Given the description of an element on the screen output the (x, y) to click on. 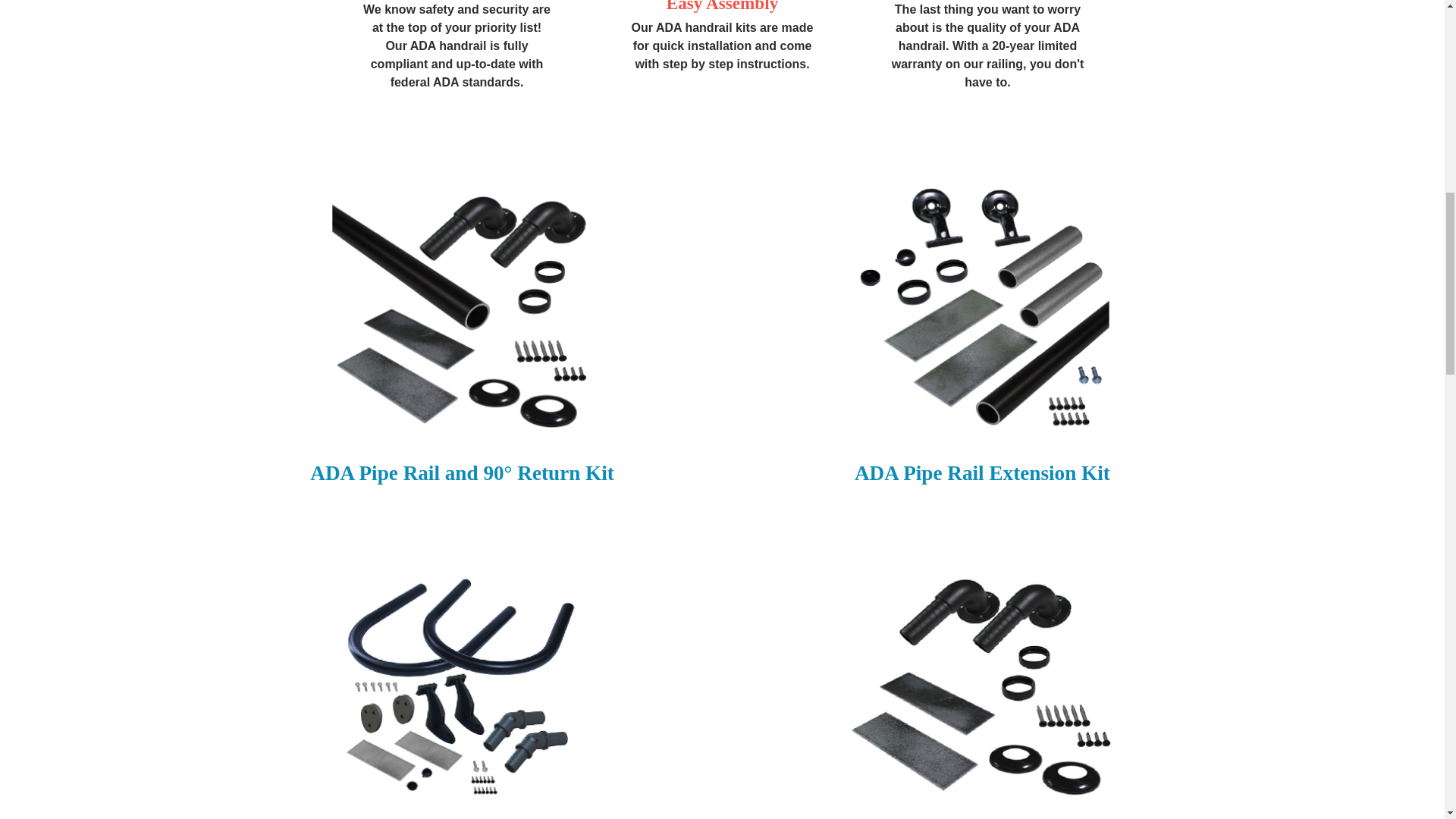
90 Degree Return Kit Harmony Railing (981, 687)
ADA Handicap Loop Kit (462, 687)
ADA Pipe Rail Extension Kit (981, 309)
